Given the description of an element on the screen output the (x, y) to click on. 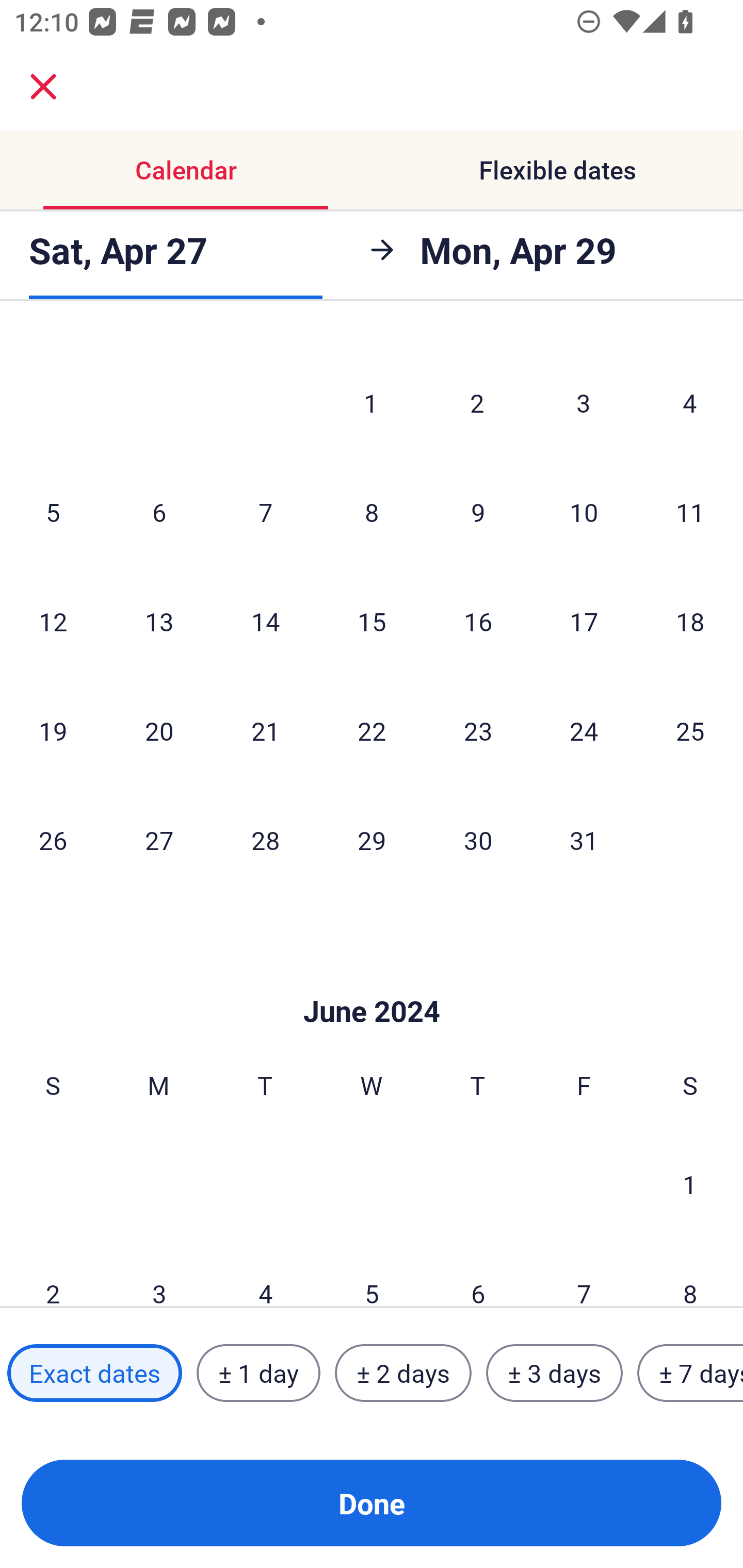
close. (43, 86)
Flexible dates (557, 170)
1 Wednesday, May 1, 2024 (371, 401)
2 Thursday, May 2, 2024 (477, 401)
3 Friday, May 3, 2024 (583, 401)
4 Saturday, May 4, 2024 (689, 401)
5 Sunday, May 5, 2024 (53, 511)
6 Monday, May 6, 2024 (159, 511)
7 Tuesday, May 7, 2024 (265, 511)
8 Wednesday, May 8, 2024 (371, 511)
9 Thursday, May 9, 2024 (477, 511)
10 Friday, May 10, 2024 (584, 511)
11 Saturday, May 11, 2024 (690, 511)
12 Sunday, May 12, 2024 (53, 620)
13 Monday, May 13, 2024 (159, 620)
14 Tuesday, May 14, 2024 (265, 620)
15 Wednesday, May 15, 2024 (371, 620)
16 Thursday, May 16, 2024 (477, 620)
17 Friday, May 17, 2024 (584, 620)
18 Saturday, May 18, 2024 (690, 620)
19 Sunday, May 19, 2024 (53, 730)
20 Monday, May 20, 2024 (159, 730)
21 Tuesday, May 21, 2024 (265, 730)
22 Wednesday, May 22, 2024 (371, 730)
23 Thursday, May 23, 2024 (477, 730)
24 Friday, May 24, 2024 (584, 730)
25 Saturday, May 25, 2024 (690, 730)
26 Sunday, May 26, 2024 (53, 839)
27 Monday, May 27, 2024 (159, 839)
28 Tuesday, May 28, 2024 (265, 839)
29 Wednesday, May 29, 2024 (371, 839)
30 Thursday, May 30, 2024 (477, 839)
31 Friday, May 31, 2024 (584, 839)
Skip to Done (371, 980)
1 Saturday, June 1, 2024 (689, 1183)
2 Sunday, June 2, 2024 (53, 1273)
3 Monday, June 3, 2024 (159, 1273)
4 Tuesday, June 4, 2024 (265, 1273)
5 Wednesday, June 5, 2024 (371, 1273)
6 Thursday, June 6, 2024 (477, 1273)
7 Friday, June 7, 2024 (584, 1273)
8 Saturday, June 8, 2024 (690, 1273)
Exact dates (94, 1372)
± 1 day (258, 1372)
± 2 days (403, 1372)
± 3 days (553, 1372)
± 7 days (690, 1372)
Done (371, 1502)
